Given the description of an element on the screen output the (x, y) to click on. 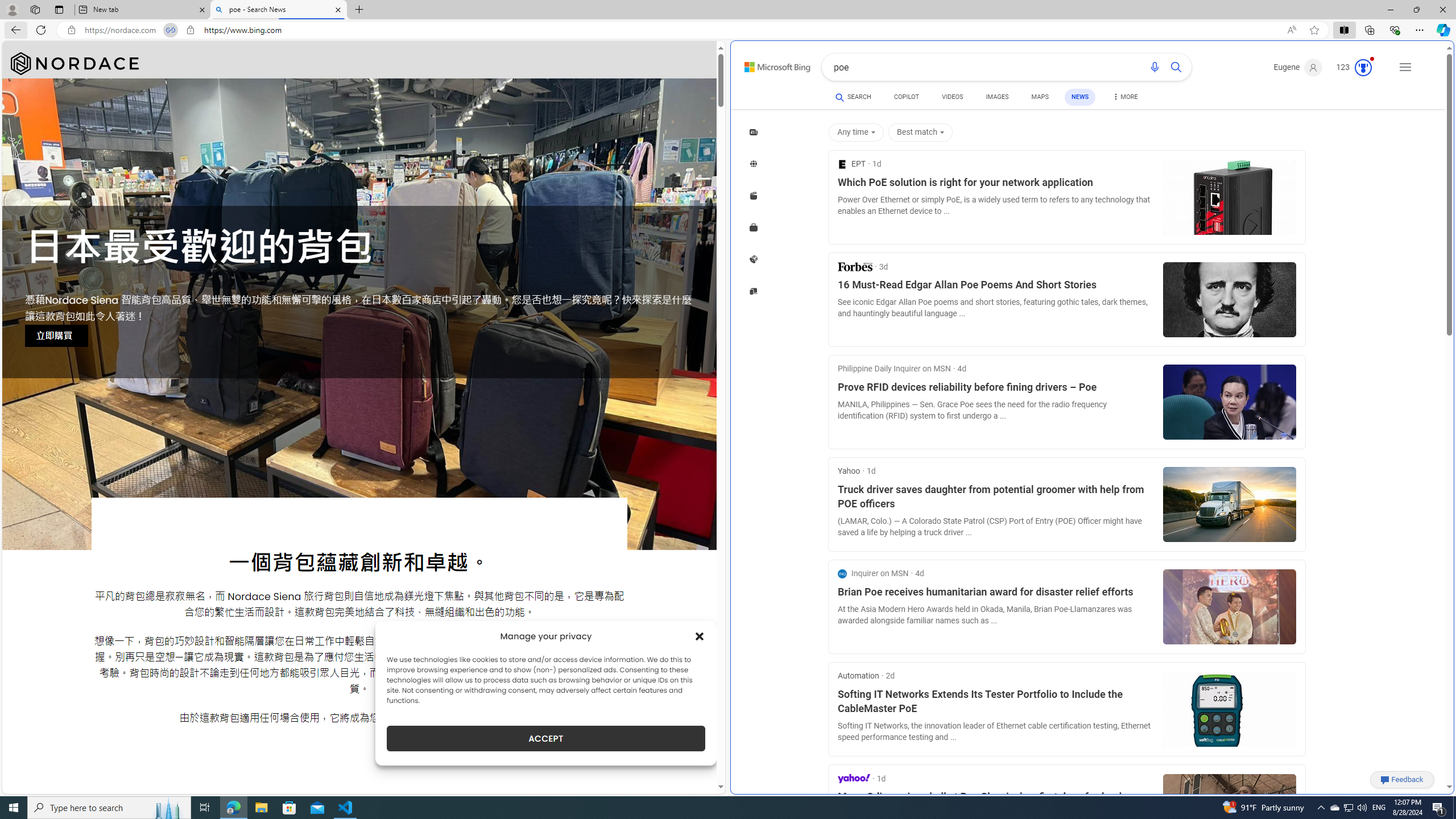
Search using voice (1154, 66)
Class: cmplz-close (699, 636)
Forbes (854, 266)
Search news about Sci/Tech (754, 290)
MAPS (1040, 96)
Search news about Business (754, 227)
Search news from Yahoo (853, 777)
SEARCH (852, 96)
IMAGES (997, 98)
